Given the description of an element on the screen output the (x, y) to click on. 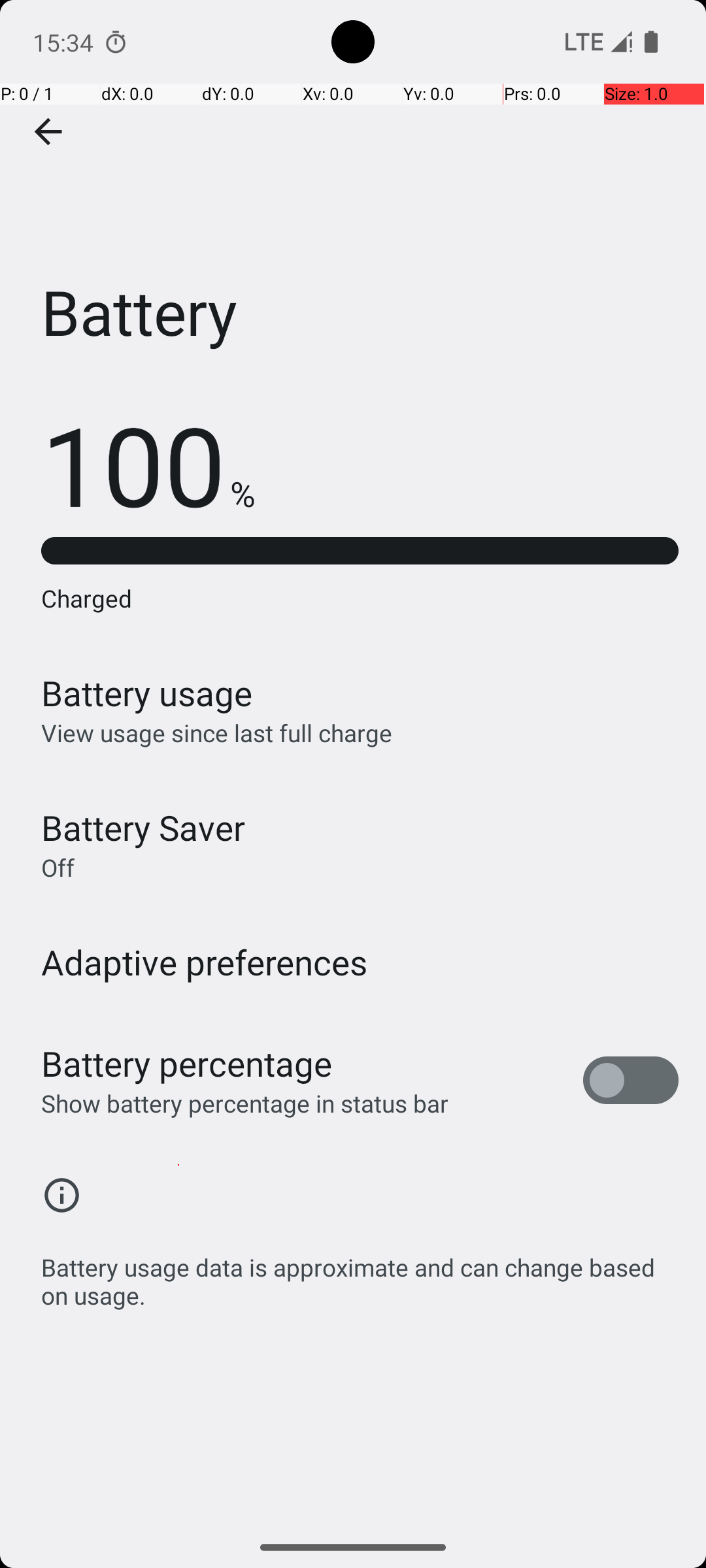
100 % Element type: android.widget.TextView (147, 463)
Charged Element type: android.widget.TextView (359, 597)
View usage since last full charge Element type: android.widget.TextView (216, 732)
Battery Saver Element type: android.widget.TextView (143, 827)
Adaptive preferences Element type: android.widget.TextView (204, 961)
Battery percentage Element type: android.widget.TextView (186, 1063)
Show battery percentage in status bar Element type: android.widget.TextView (244, 1102)
Battery usage data is approximate and can change based on usage. Element type: android.widget.TextView (359, 1274)
